Given the description of an element on the screen output the (x, y) to click on. 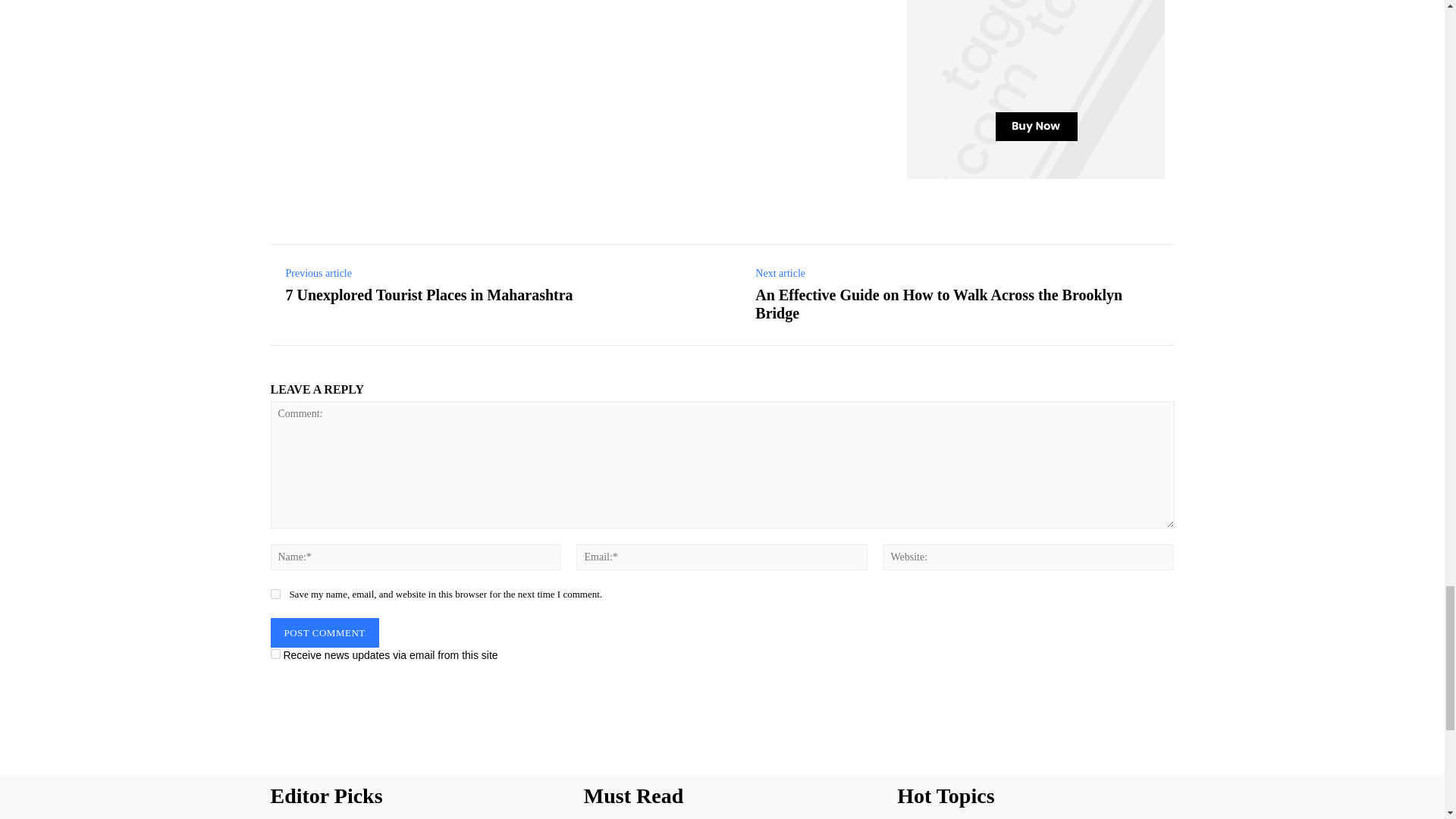
1 (274, 654)
Post Comment (323, 632)
yes (274, 593)
